Given the description of an element on the screen output the (x, y) to click on. 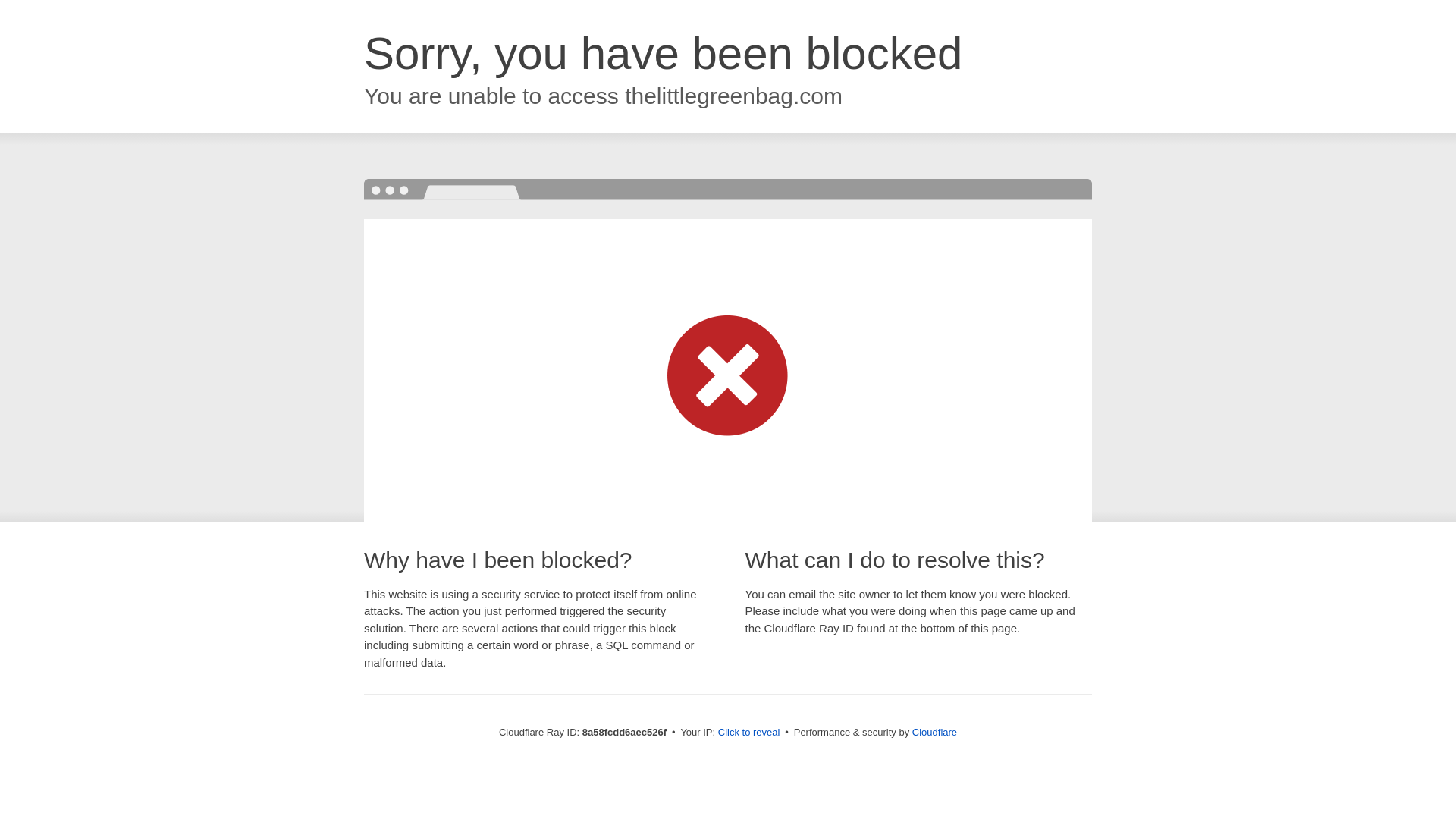
Cloudflare (934, 731)
Click to reveal (748, 732)
